Given the description of an element on the screen output the (x, y) to click on. 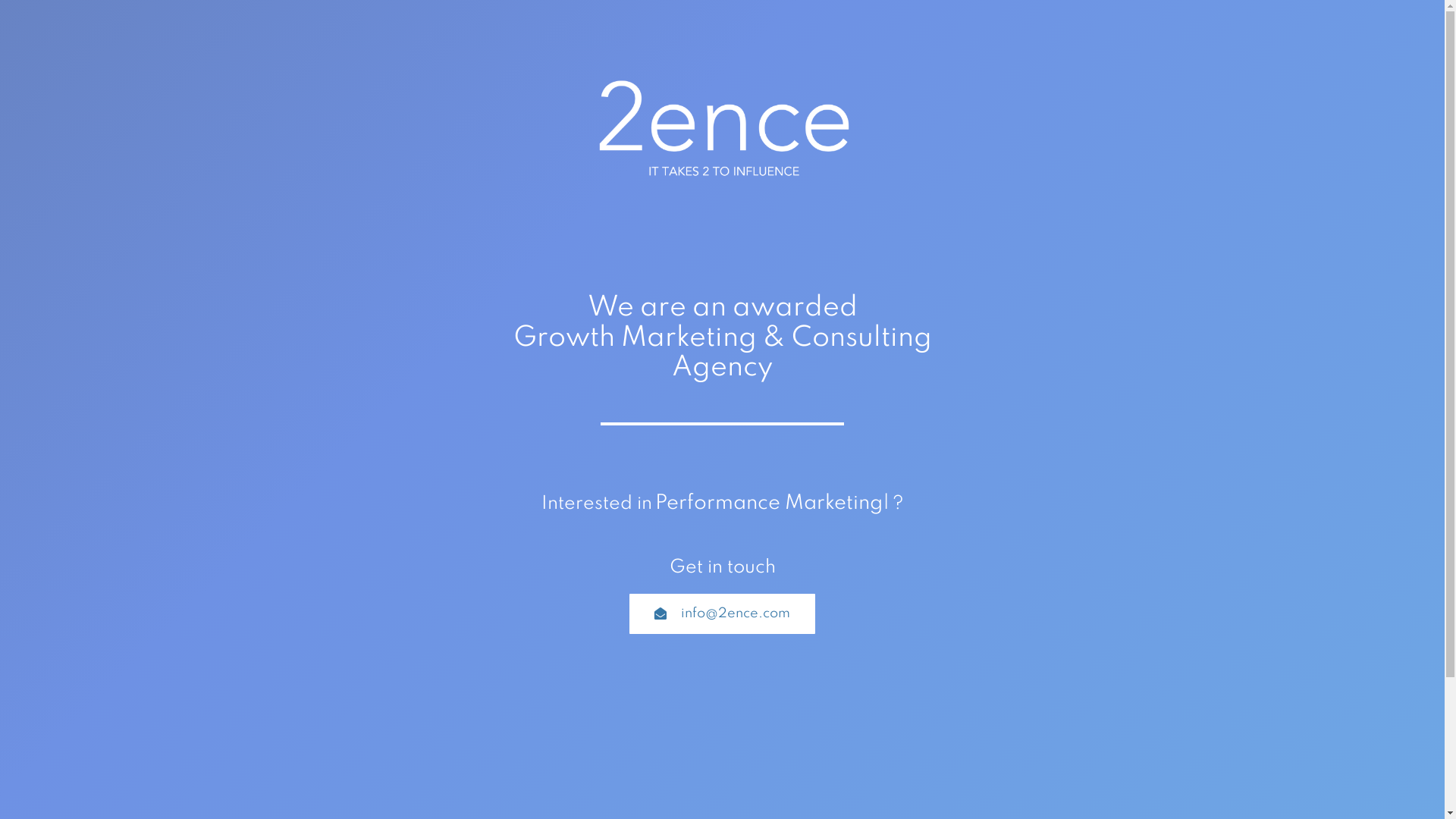
info@2ence.com Element type: text (722, 613)
